Given the description of an element on the screen output the (x, y) to click on. 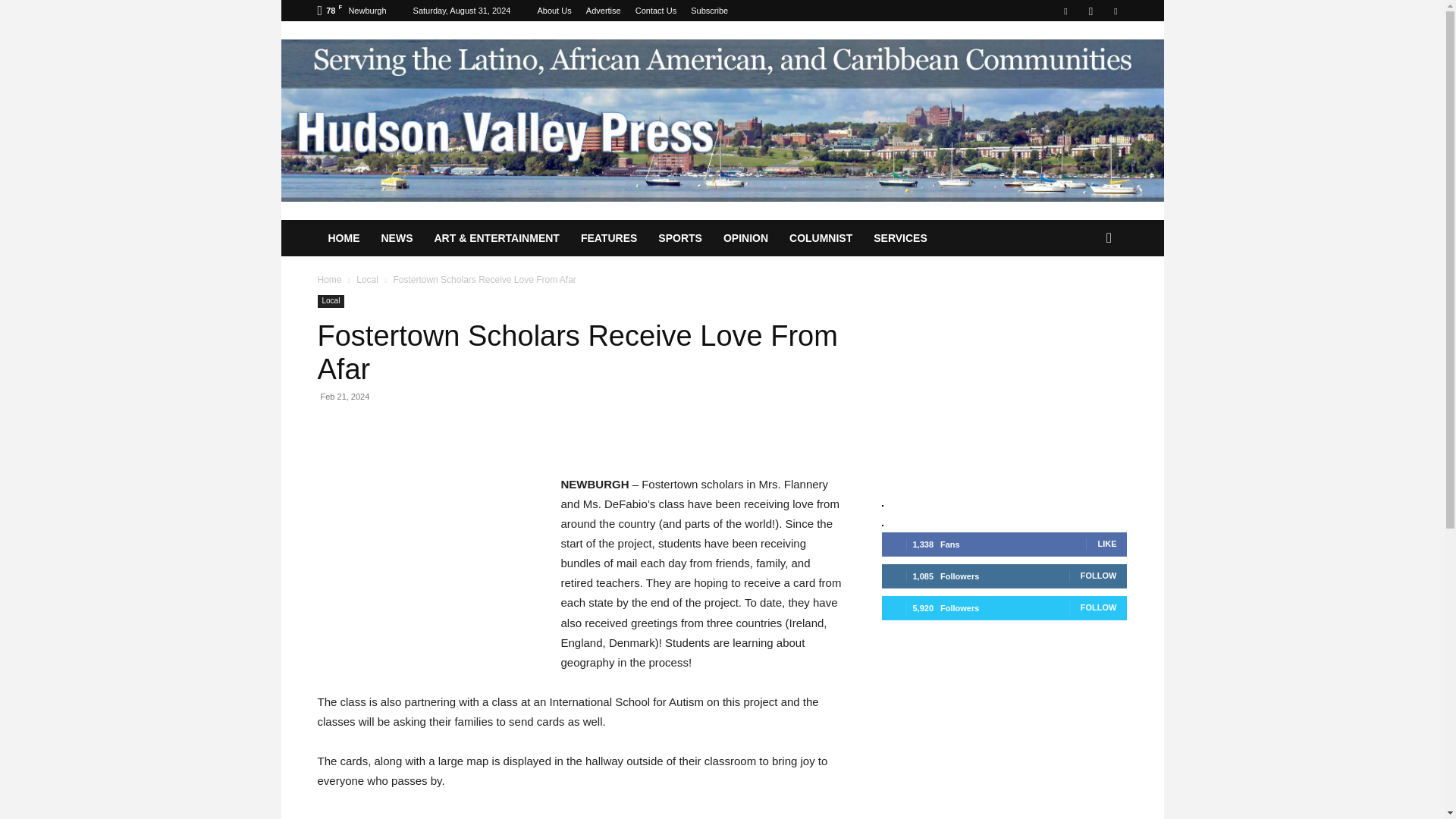
Instagram (1090, 10)
Facebook (1065, 10)
View all posts in Local (367, 279)
Twitter (1114, 10)
